Given the description of an element on the screen output the (x, y) to click on. 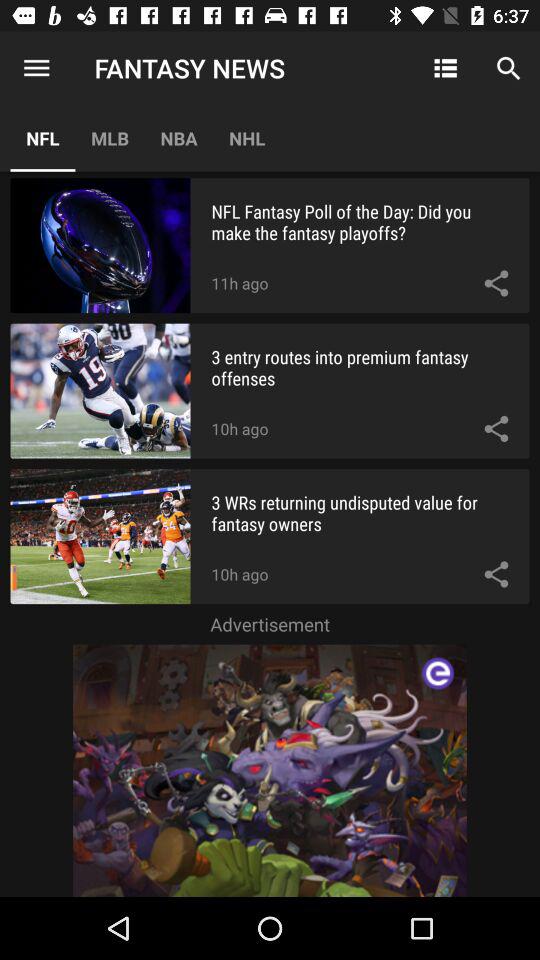
advertisement (269, 770)
